Given the description of an element on the screen output the (x, y) to click on. 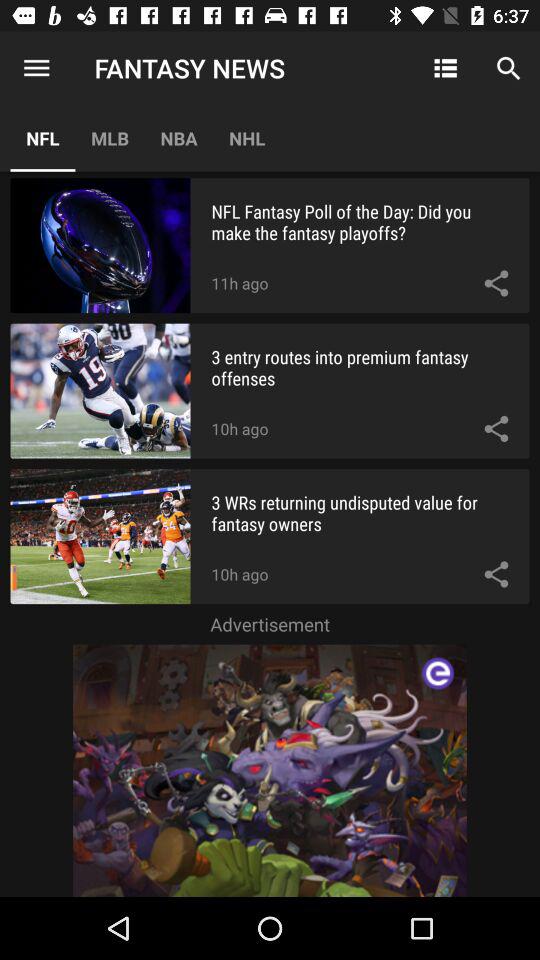
advertisement (269, 770)
